Given the description of an element on the screen output the (x, y) to click on. 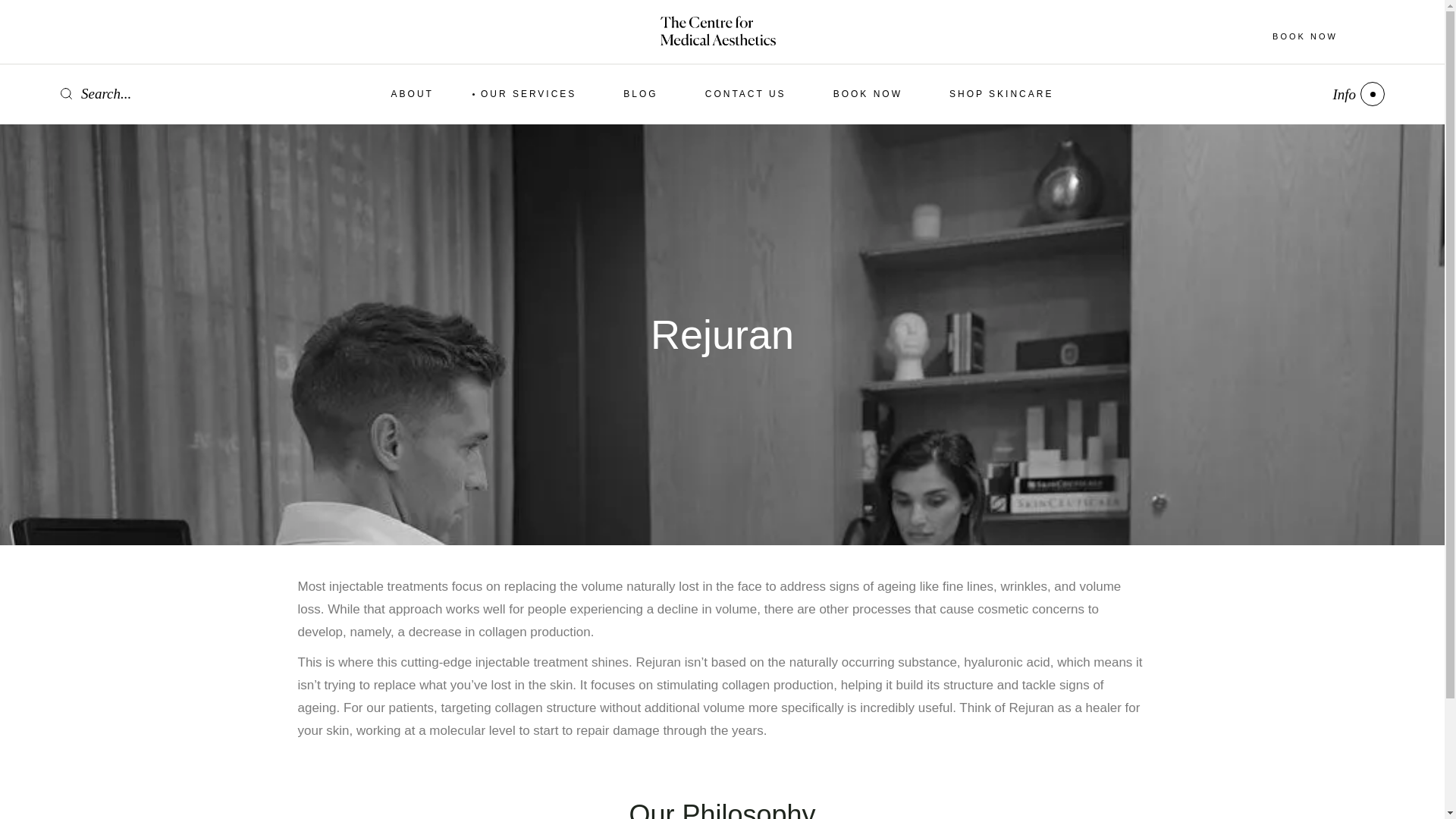
Search... (96, 93)
BOOK NOW (1304, 34)
CONTACT US (745, 93)
OUR SERVICES (528, 93)
BOOK NOW (867, 93)
Info (1358, 93)
SHOP SKINCARE (1000, 93)
